Given the description of an element on the screen output the (x, y) to click on. 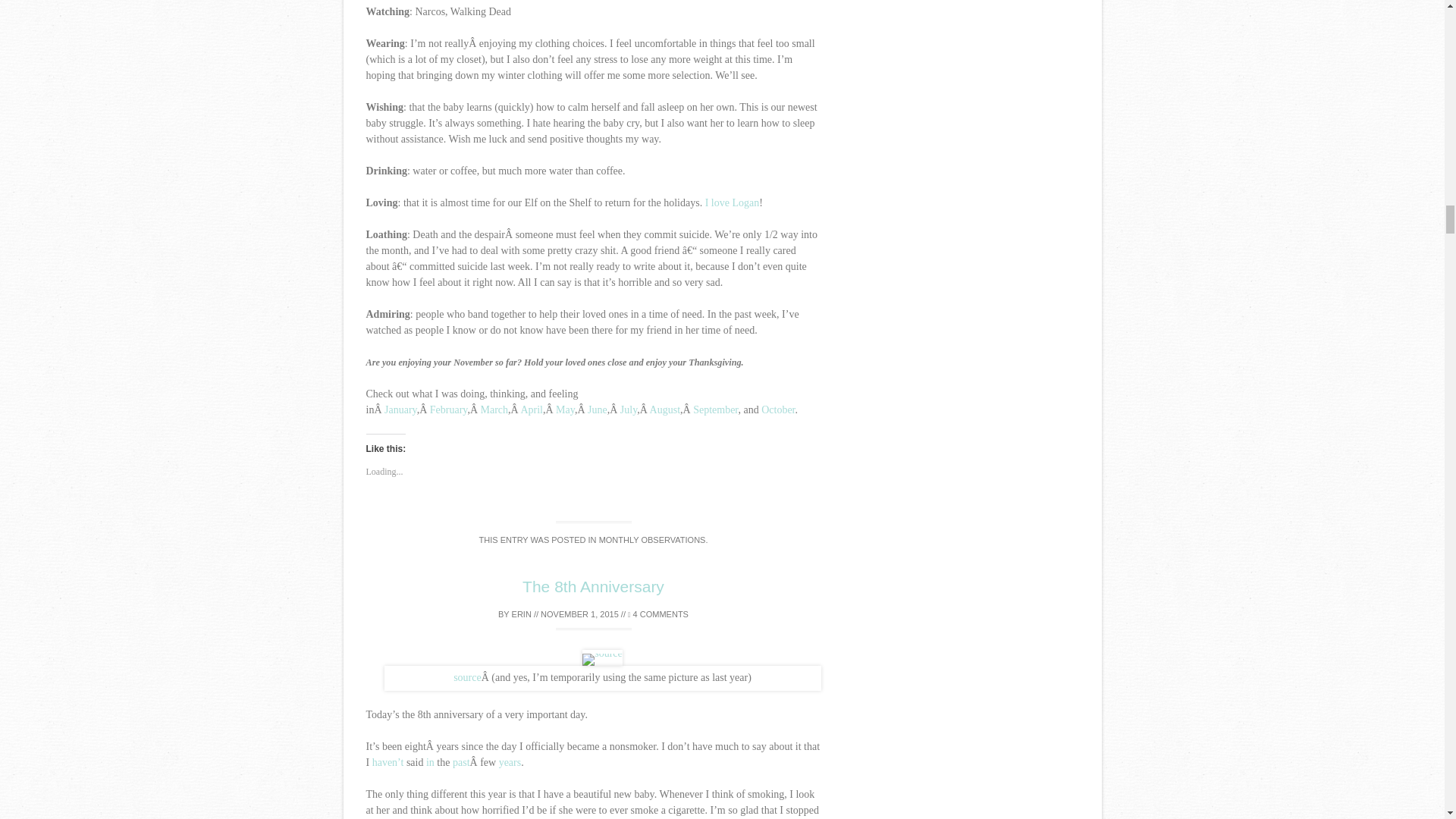
The Big News (400, 409)
Currently in February 2015 (448, 409)
Currently in March 2015 (494, 409)
